Given the description of an element on the screen output the (x, y) to click on. 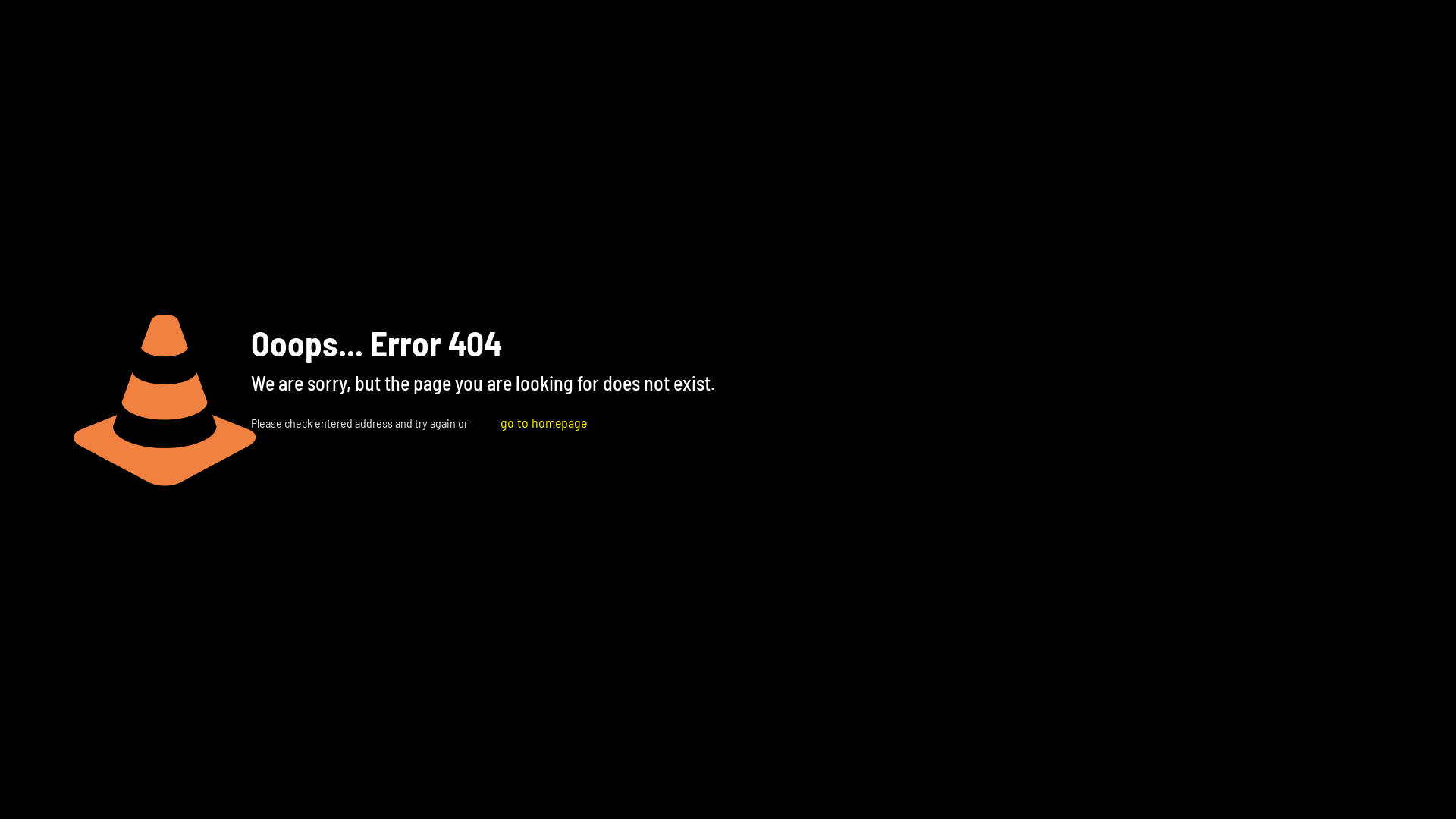
go to homepage Element type: text (543, 422)
